Given the description of an element on the screen output the (x, y) to click on. 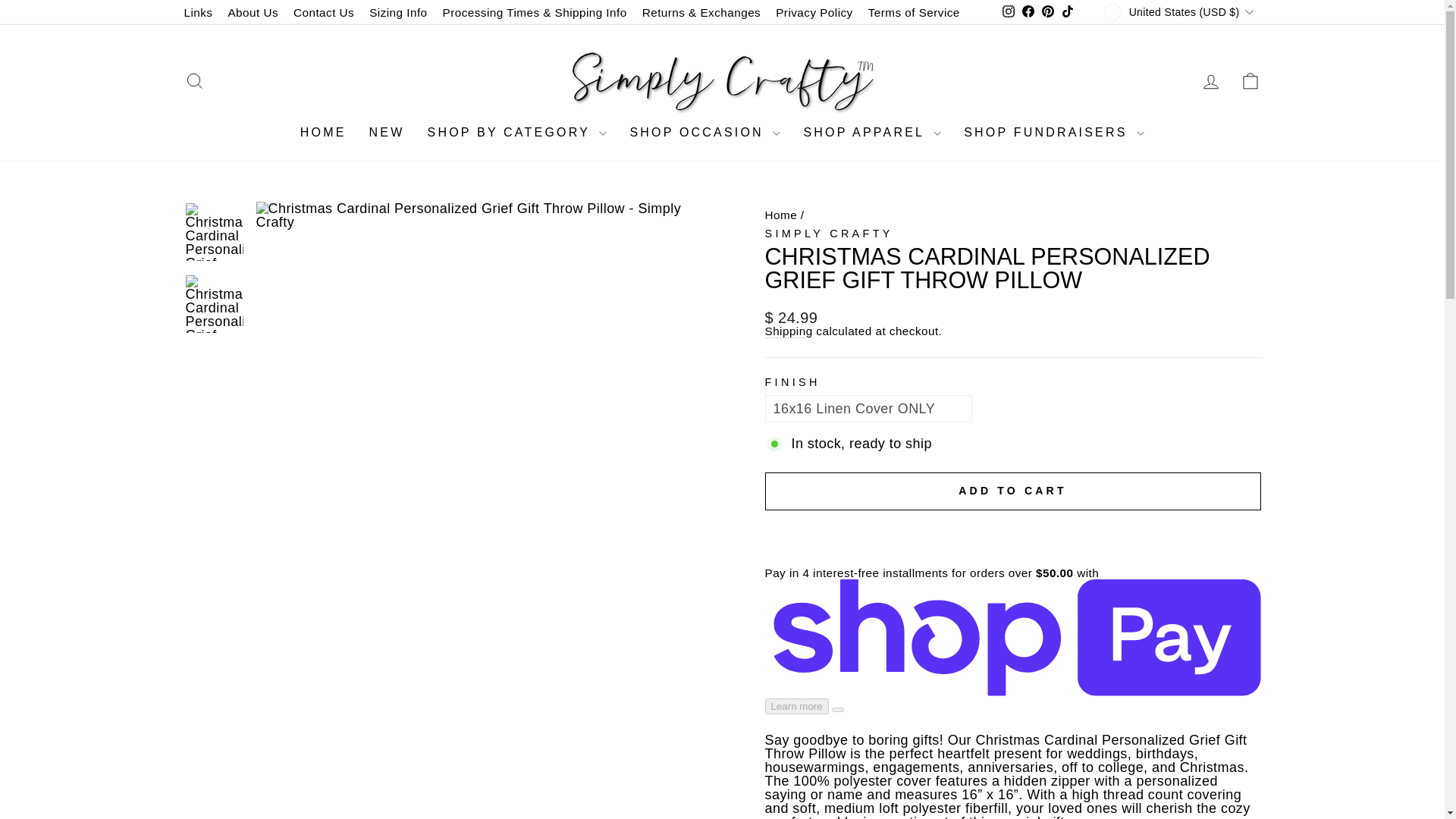
Back to the frontpage (780, 214)
Simply Crafty on Facebook (1027, 12)
Simply Crafty on Pinterest (1048, 12)
instagram (1008, 10)
Simply Crafty on TikTok (1067, 12)
Simply Crafty (828, 233)
ICON-BAG-MINIMAL (1249, 80)
ACCOUNT (1210, 81)
ICON-SEARCH (194, 80)
Simply Crafty on Instagram (1007, 12)
